Given the description of an element on the screen output the (x, y) to click on. 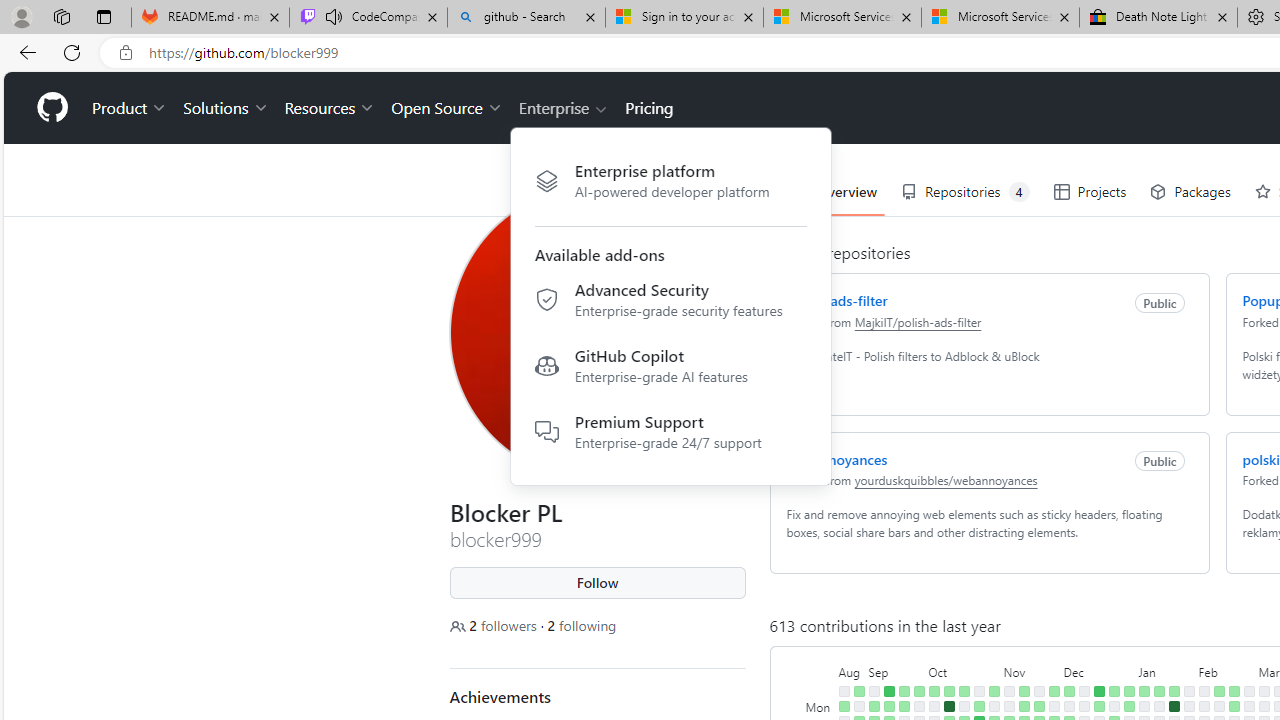
23 contributions on January 22nd. (1173, 706)
9 contributions on December 17th. (1098, 691)
Tab actions menu (104, 16)
Premium SupportEnterprise-grade 24/7 support (669, 430)
No contributions on January 15th. (1158, 706)
No contributions on October 22nd. (978, 691)
Packages (1190, 192)
No contributions on November 5th. (1009, 691)
Solutions (225, 107)
Advanced Security Enterprise-grade security features (669, 303)
No contributions on August 20th. (843, 691)
Refresh (72, 52)
2 following (581, 625)
webannoyances (836, 458)
